Given the description of an element on the screen output the (x, y) to click on. 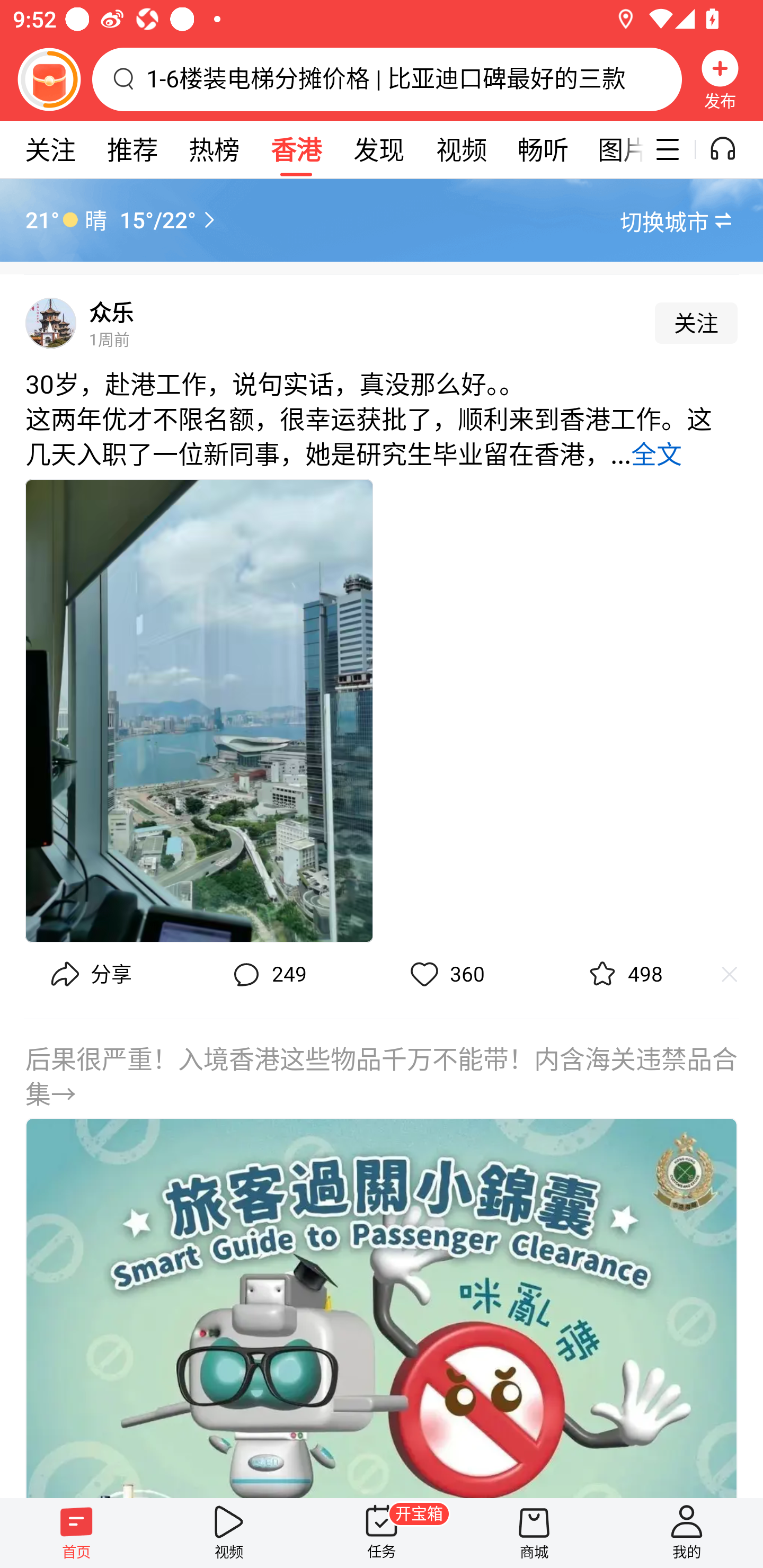
阅读赚金币 (48, 79)
发布 发布，按钮 (720, 78)
关注 (50, 149)
推荐 (132, 149)
热榜 (213, 149)
香港 (295, 149)
发现 (378, 149)
视频 (461, 149)
畅听 (542, 149)
听一听开关 (732, 149)
众乐头像 众乐,,,,1周前 众乐 1周前 关注 关注 (381, 317)
众乐 (111, 312)
众乐头像 (50, 322)
关注 (695, 322)
分享 (88, 975)
评论,249 249 (266, 975)
收藏,498 498 (622, 975)
减少此类内容推荐 (737, 974)
后果很严重！入境香港这些物品千万不能带！内含海关违禁品合集→ (381, 1258)
首页 (76, 1532)
视频 (228, 1532)
任务 开宝箱 (381, 1532)
商城 (533, 1532)
我的 (686, 1532)
